Given the description of an element on the screen output the (x, y) to click on. 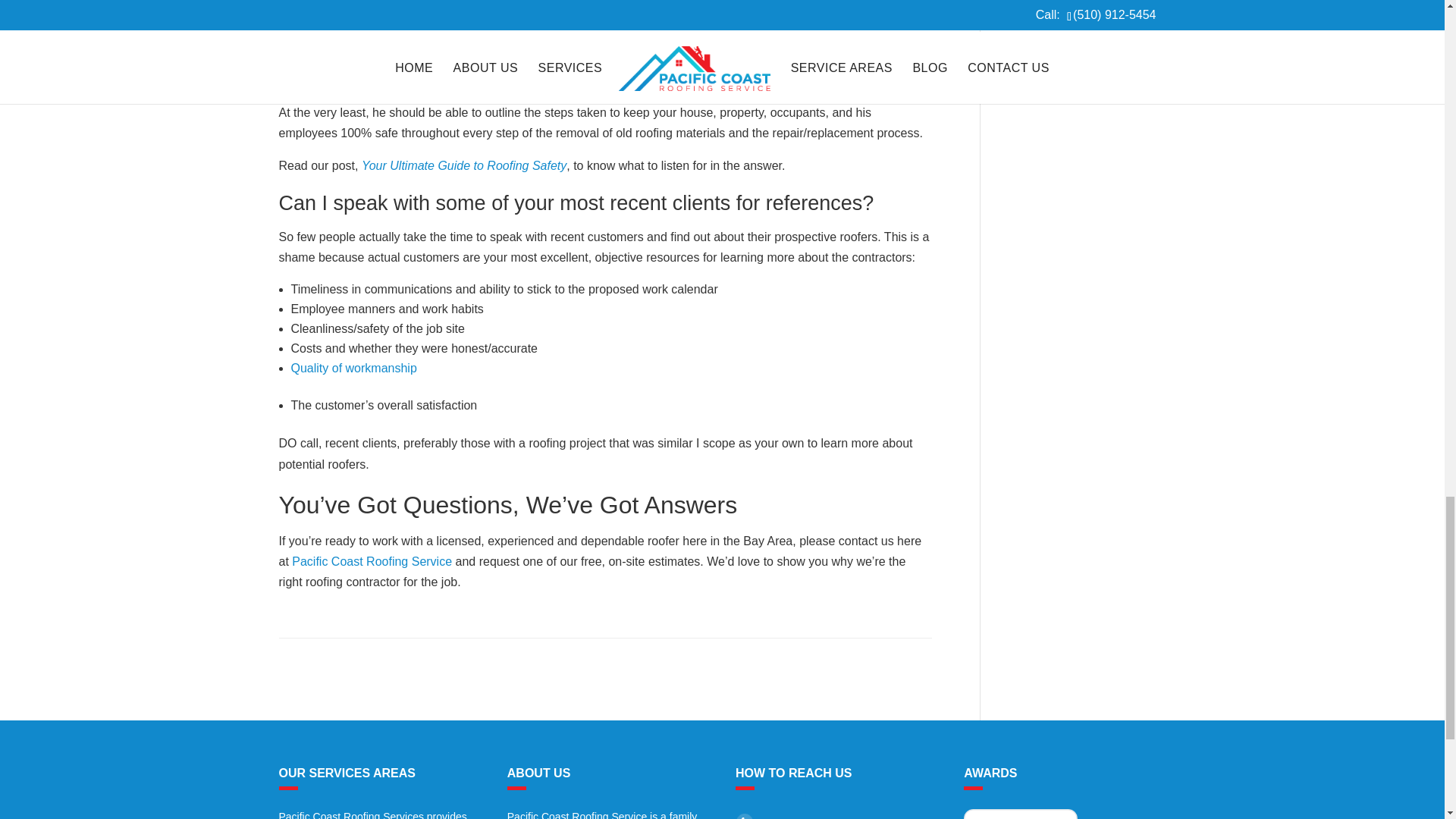
Quality of workmanship (353, 367)
Your Ultimate Guide to Roofing Safety (463, 164)
Pacific Coast Roofing Service (371, 561)
provides service all over the Bay Area (373, 814)
can be slippery (572, 38)
